Given the description of an element on the screen output the (x, y) to click on. 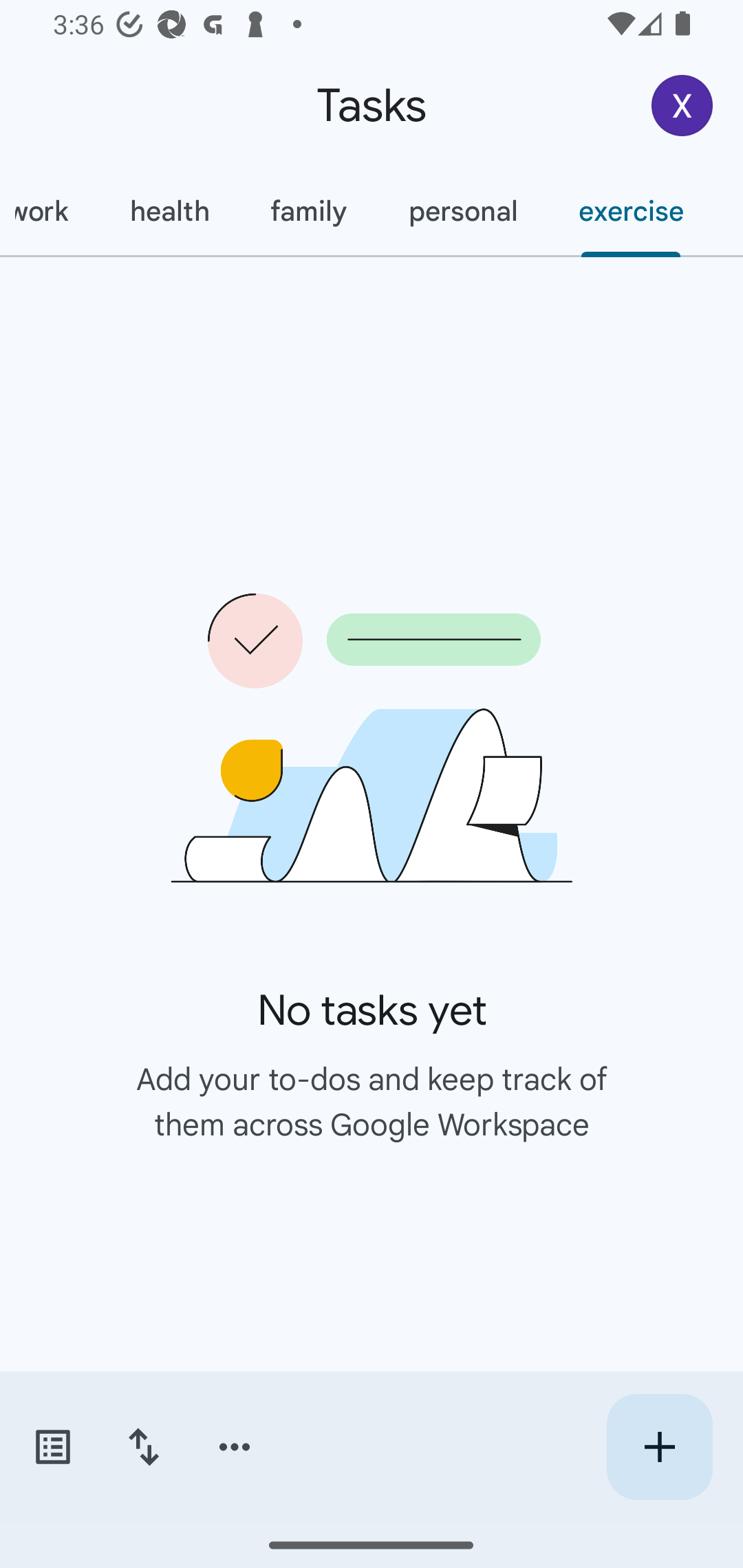
work (49, 211)
health (168, 211)
family (308, 211)
personal (462, 211)
Switch task lists (52, 1447)
Create new task (659, 1446)
Change sort order (143, 1446)
More options (234, 1446)
